Given the description of an element on the screen output the (x, y) to click on. 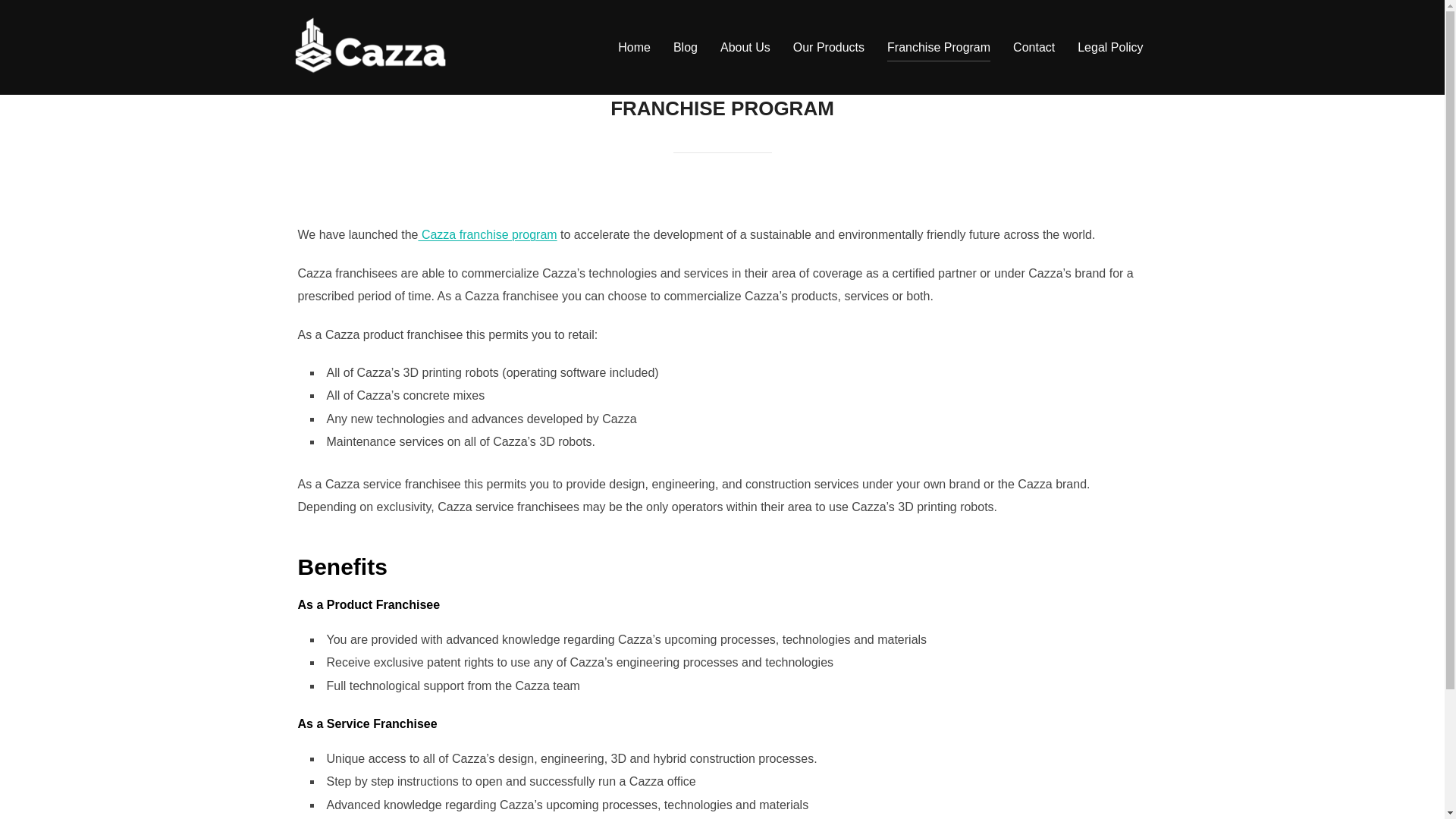
Legal Policy (1109, 47)
Franchise Program (938, 47)
About Us (745, 47)
Contact (1033, 47)
Our Products (828, 47)
Cazza franchise program (486, 234)
Home (633, 47)
